Given the description of an element on the screen output the (x, y) to click on. 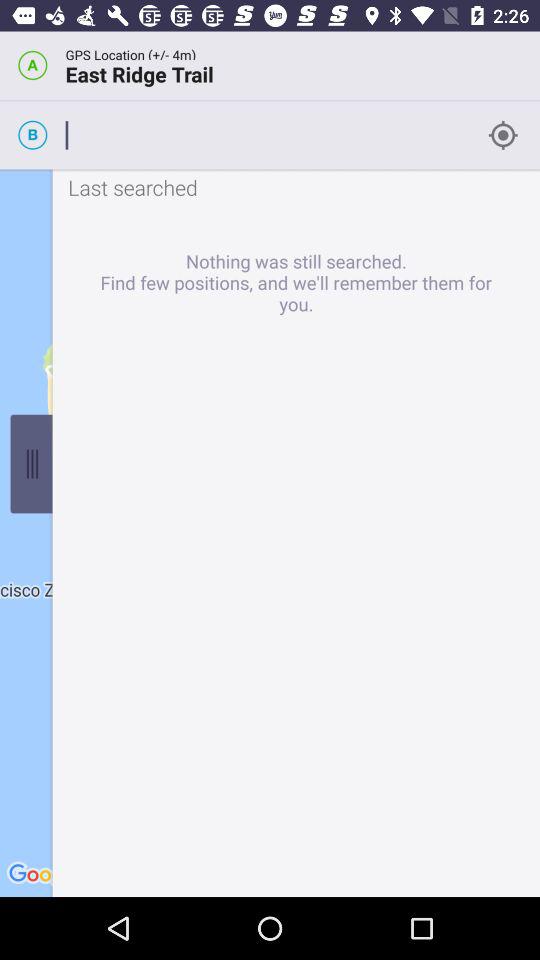
select the icon beside b (505, 134)
click on text field (268, 134)
select the symbol a which is circled (31, 64)
